Given the description of an element on the screen output the (x, y) to click on. 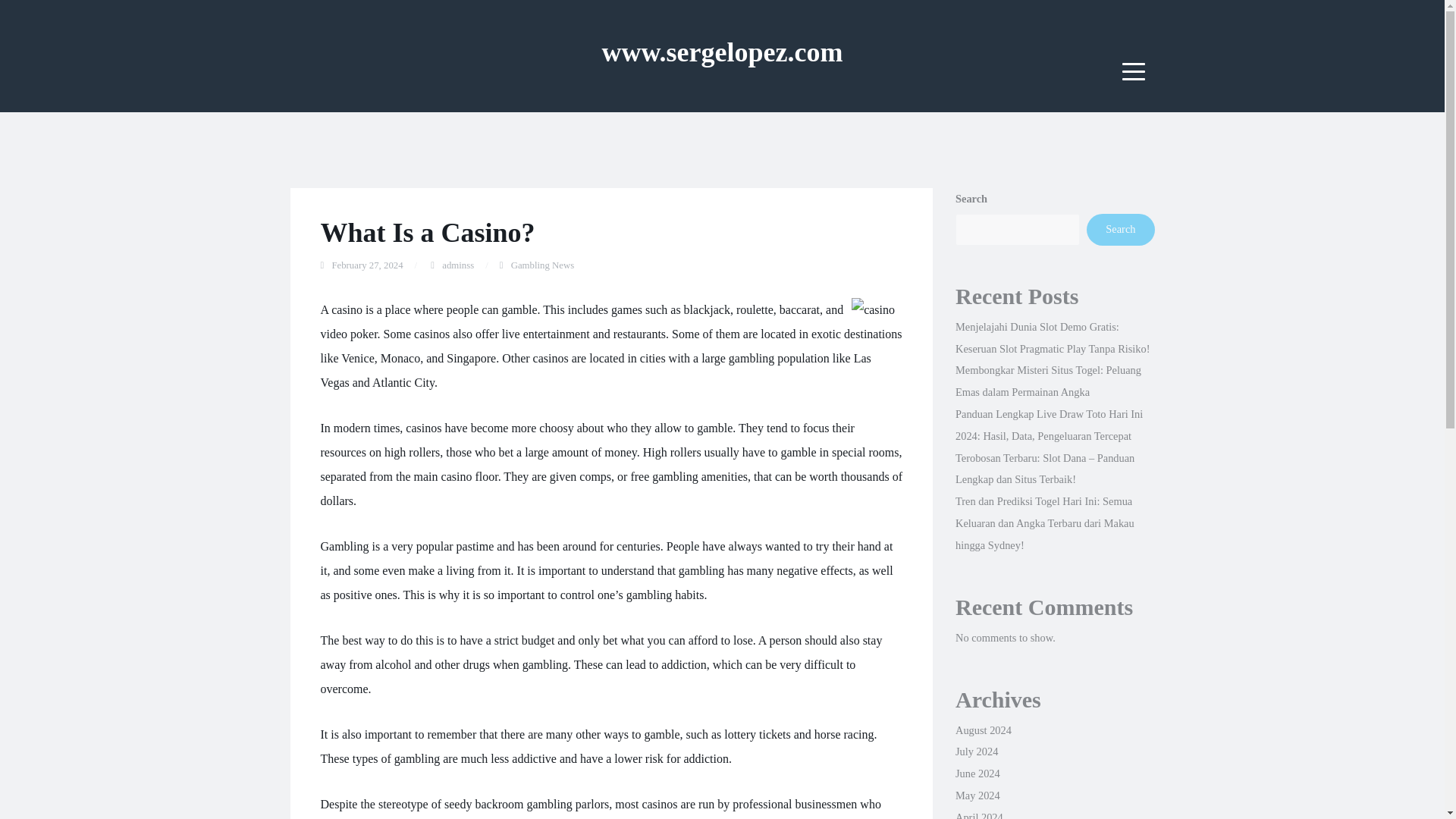
June 2024 (977, 773)
February 27, 2024 (367, 265)
www.sergelopez.com (722, 51)
adminss (458, 265)
August 2024 (983, 729)
Gambling News (543, 265)
July 2024 (976, 751)
